Given the description of an element on the screen output the (x, y) to click on. 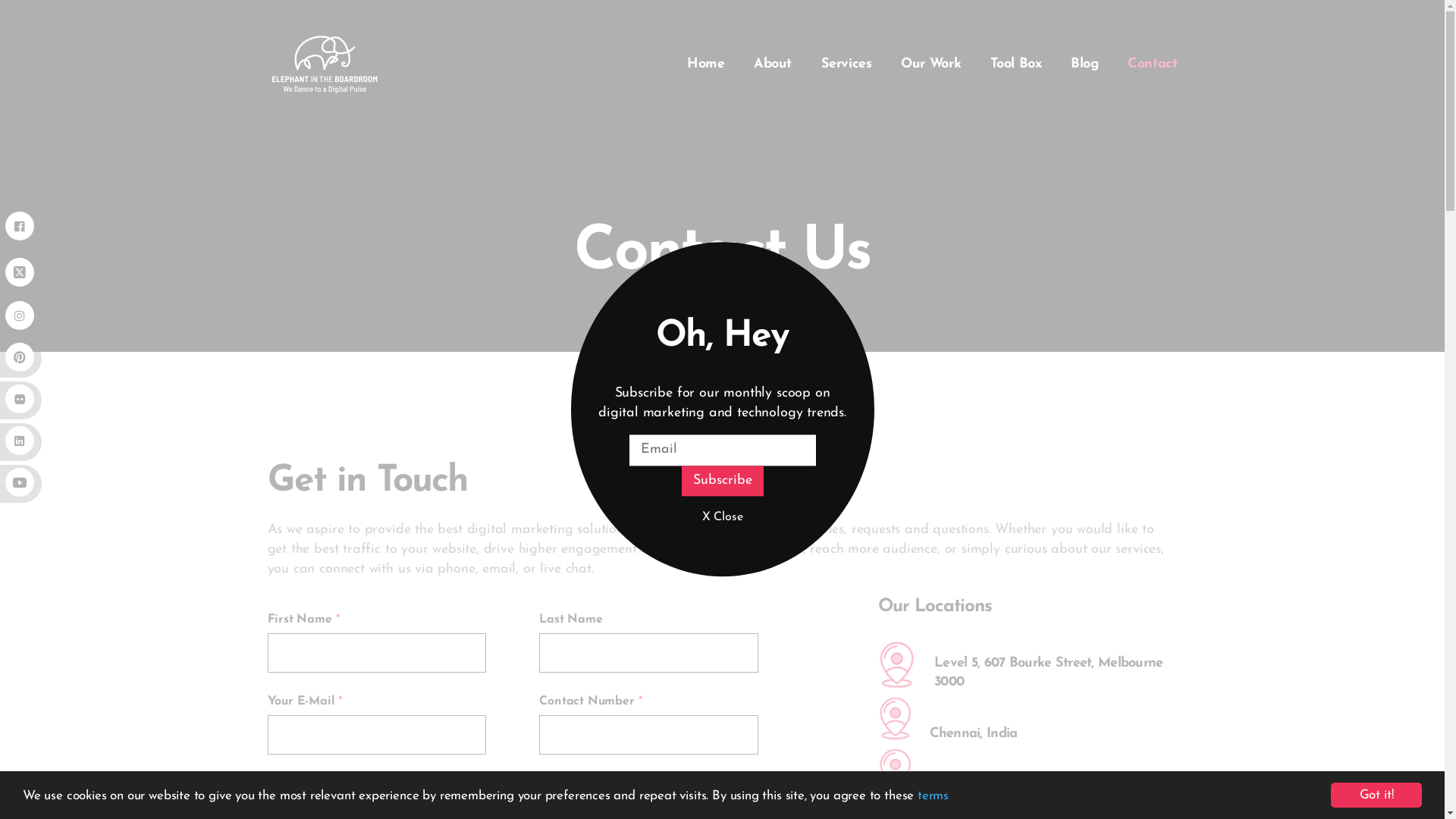
Home Element type: text (705, 63)
Our Work Element type: text (930, 63)
Got it! Element type: text (1375, 794)
terms Element type: text (932, 794)
X Close Element type: text (722, 517)
Level 5, 607 Bourke Street, Melbourne 3000 Element type: text (1048, 672)
Subscribe Element type: text (721, 480)
Blog Element type: text (1084, 63)
Contact Element type: text (1151, 63)
Services Element type: text (846, 63)
About Element type: text (772, 63)
Tool Box Element type: text (1015, 63)
